Given the description of an element on the screen output the (x, y) to click on. 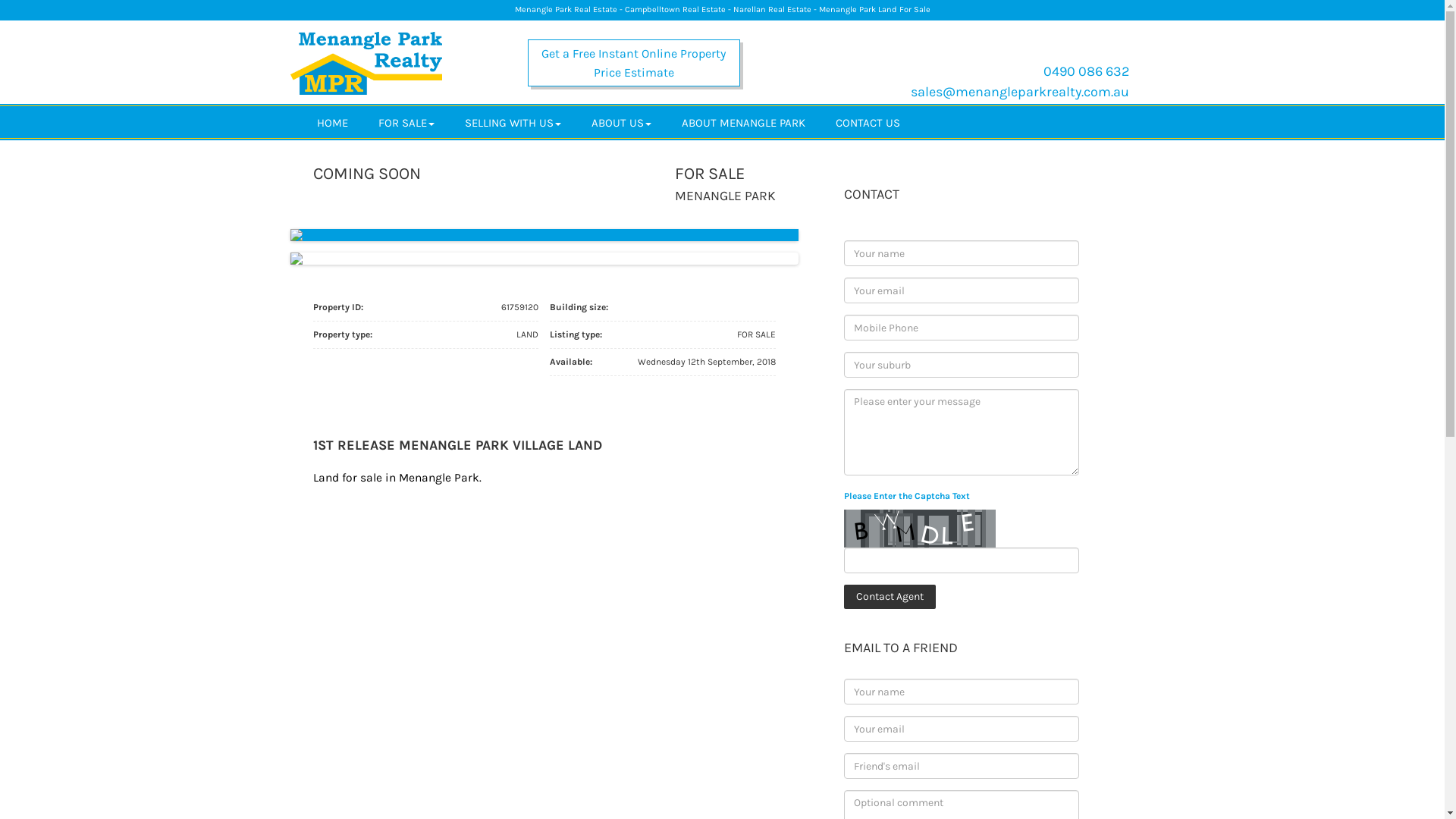
Get a Free Instant Online Property Price Estimate Element type: text (633, 62)
ABOUT US Element type: text (621, 122)
HOME Element type: text (332, 122)
sales@menangleparkrealty.com.au Element type: text (1019, 91)
FOR SALE Element type: text (405, 122)
* Please provide valid phone number Element type: hover (960, 327)
Contact Agent Element type: text (889, 596)
ABOUT MENANGLE PARK Element type: text (742, 122)
SELLING WITH US Element type: text (511, 122)
CONTACT US Element type: text (867, 122)
0490 086 632 Element type: text (1086, 70)
